Given the description of an element on the screen output the (x, y) to click on. 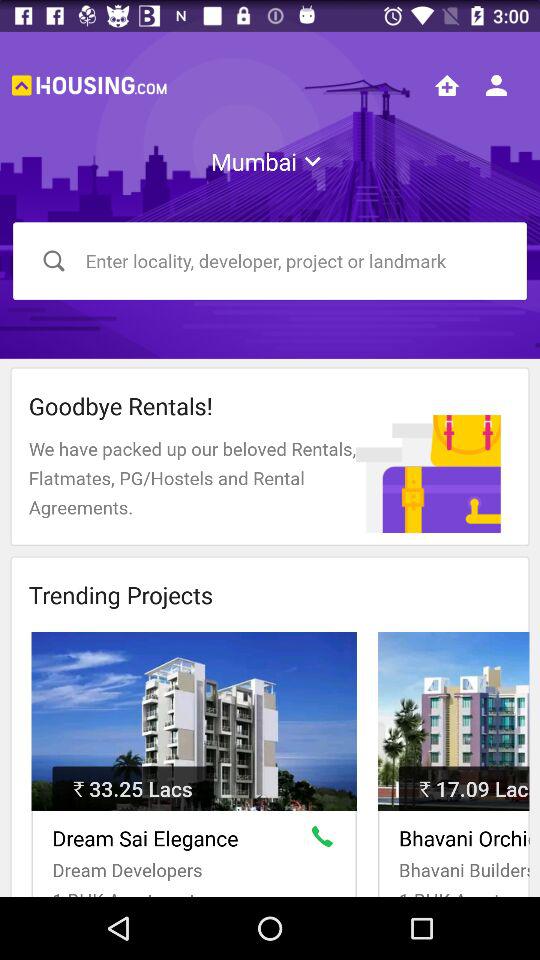
add home (447, 85)
